Given the description of an element on the screen output the (x, y) to click on. 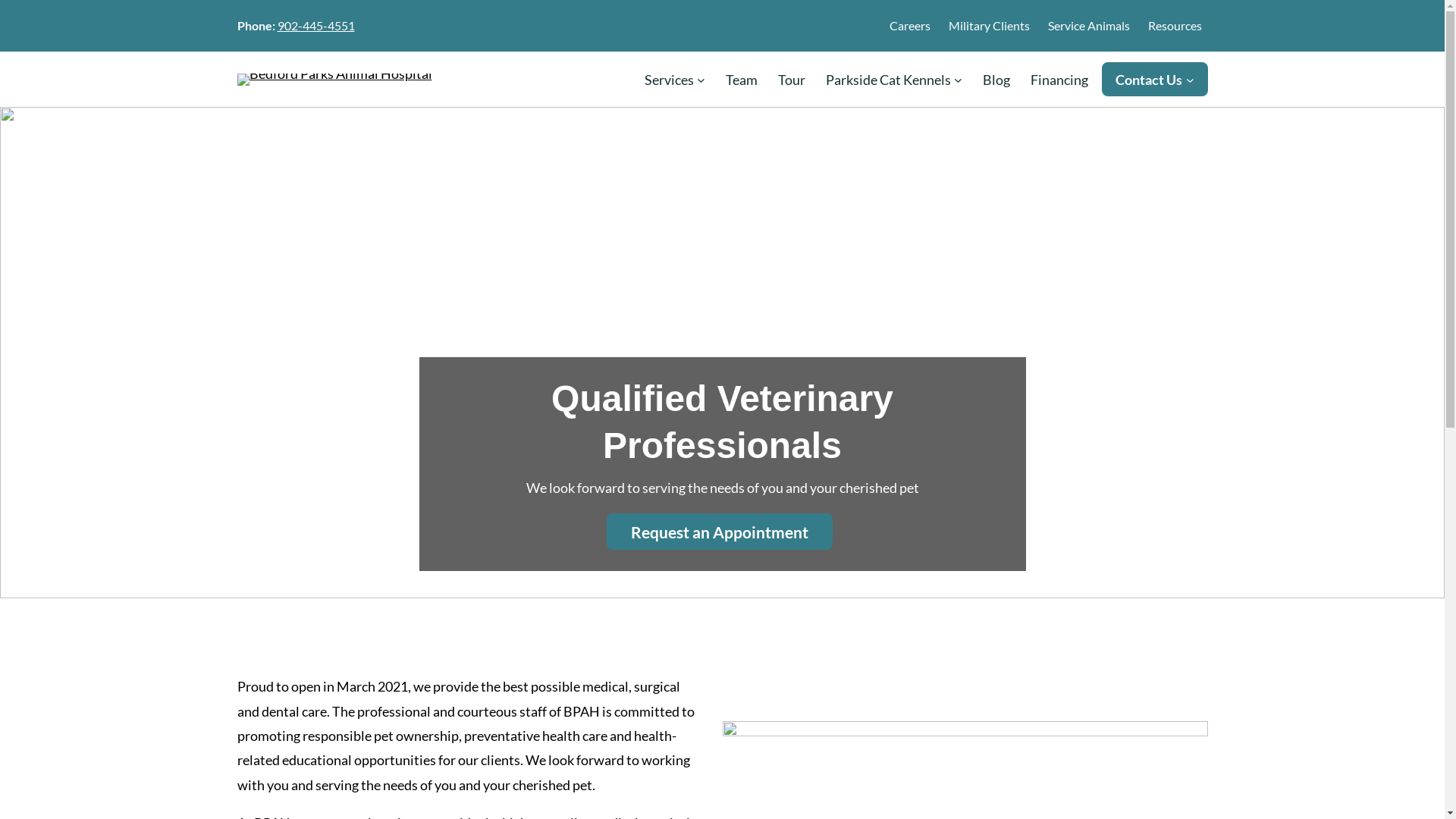
Blog Element type: text (996, 79)
Services Element type: text (668, 79)
Careers Element type: text (908, 26)
Service Animals Element type: text (1088, 26)
Tour Element type: text (791, 79)
Parkside Cat Kennels Element type: text (887, 79)
Request an Appointment Element type: text (719, 531)
Military Clients Element type: text (988, 26)
Team Element type: text (741, 79)
Contact Us Element type: text (1148, 79)
Financing Element type: text (1059, 79)
Resources Element type: text (1174, 26)
902-445-4551 Element type: text (315, 25)
